Given the description of an element on the screen output the (x, y) to click on. 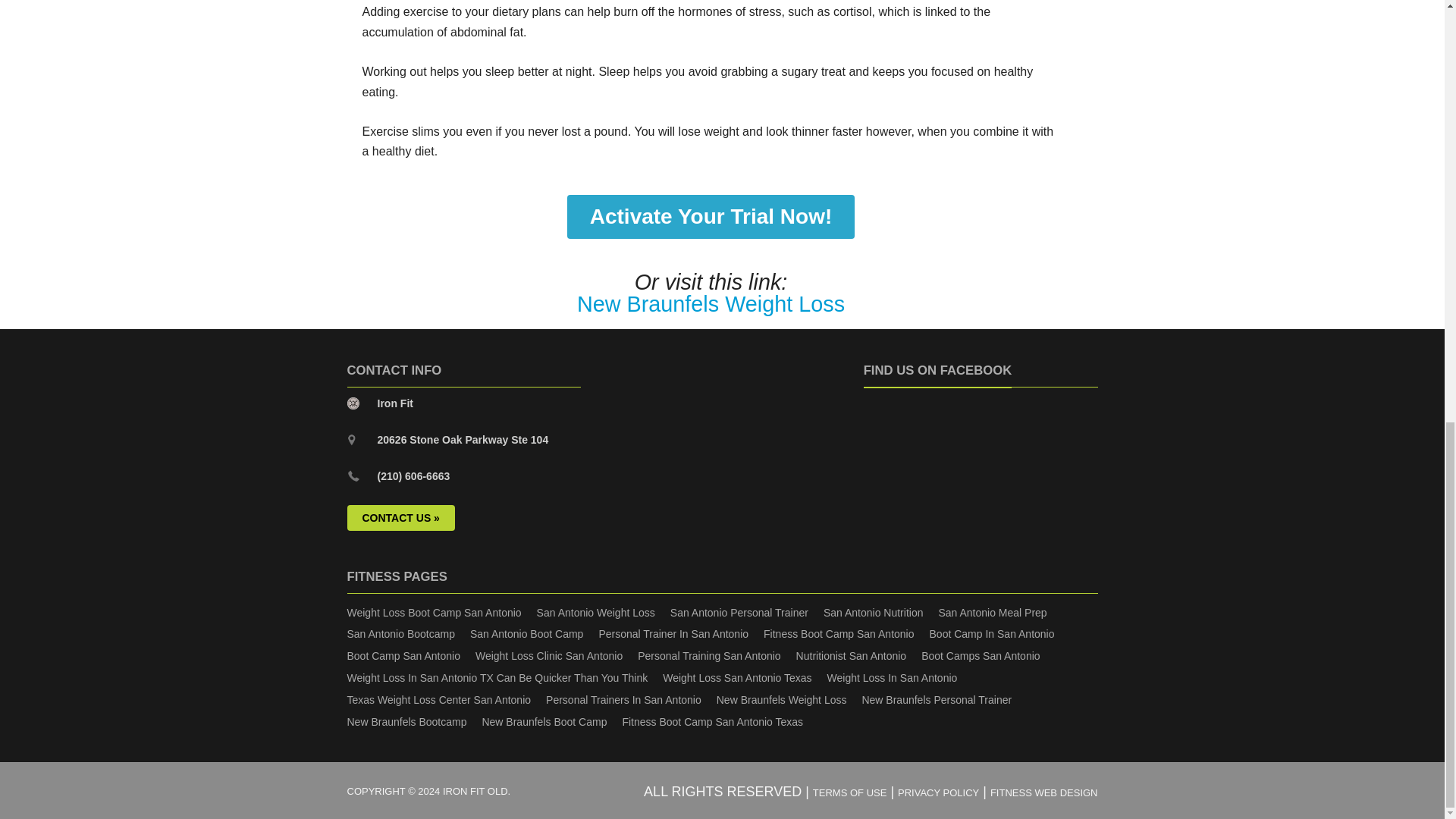
Boot Camp In San Antonio (992, 633)
San Antonio Bootcamp (400, 633)
Boot Camps San Antonio (980, 655)
Boot Camp San Antonio (403, 655)
San Antonio Personal Trainer (738, 612)
Nutritionist San Antonio (851, 655)
New Braunfels Weight Loss (710, 303)
IRON FIT OLD (475, 790)
Weight Loss Clinic San Antonio (549, 655)
Personal Trainer In San Antonio (673, 633)
Texas Weight Loss Center San Antonio (439, 699)
Weight Loss In San Antonio TX Can Be Quicker Than You Think (497, 677)
Personal Training San Antonio (708, 655)
New Braunfels Weight Loss (710, 303)
Weight Loss Boot Camp San Antonio (434, 612)
